Given the description of an element on the screen output the (x, y) to click on. 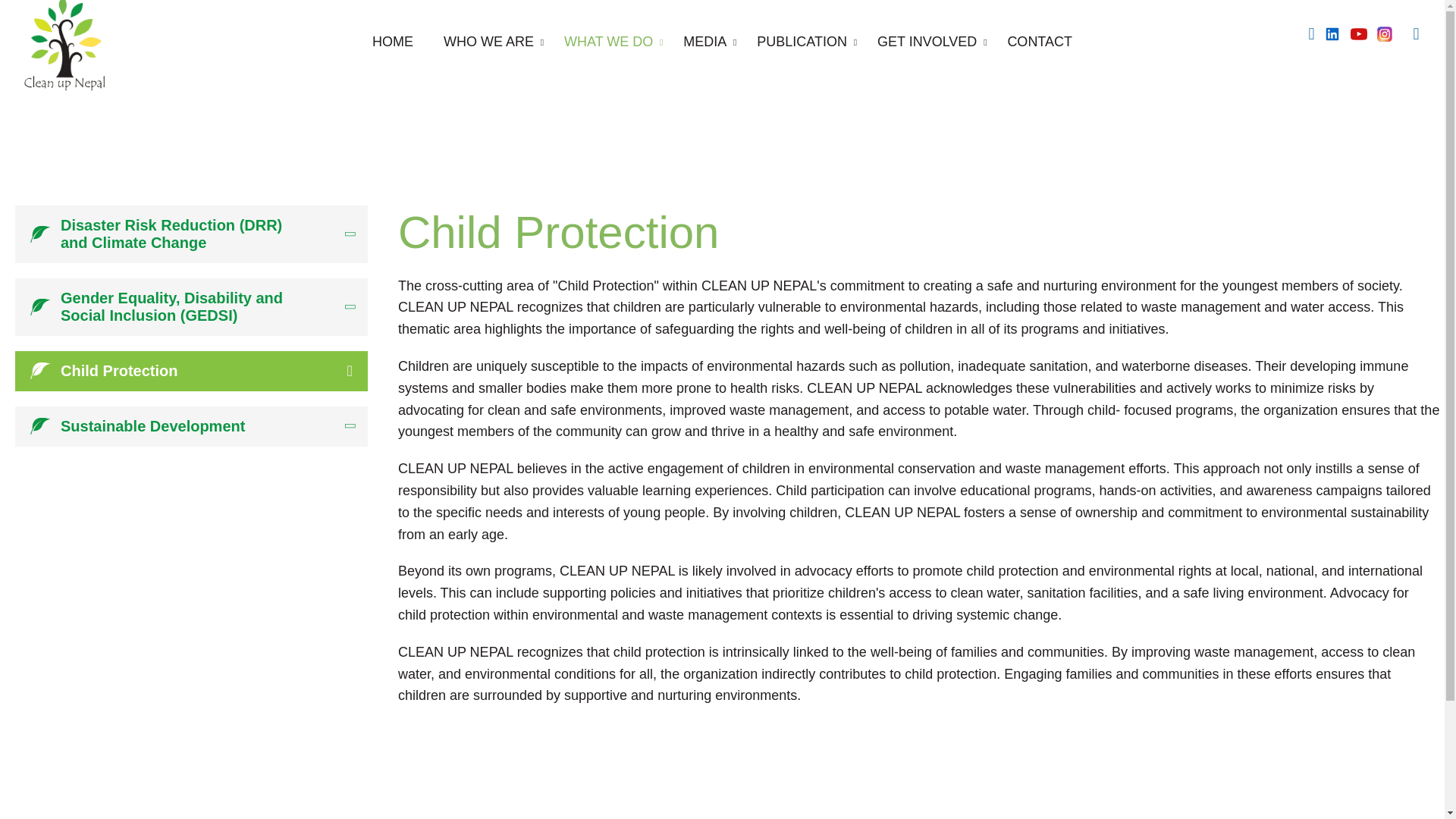
WHAT WE DO (608, 41)
GET INVOLVED (926, 41)
WHO WE ARE (488, 41)
PUBLICATION (801, 41)
HOME (392, 41)
MEDIA (704, 41)
